Given the description of an element on the screen output the (x, y) to click on. 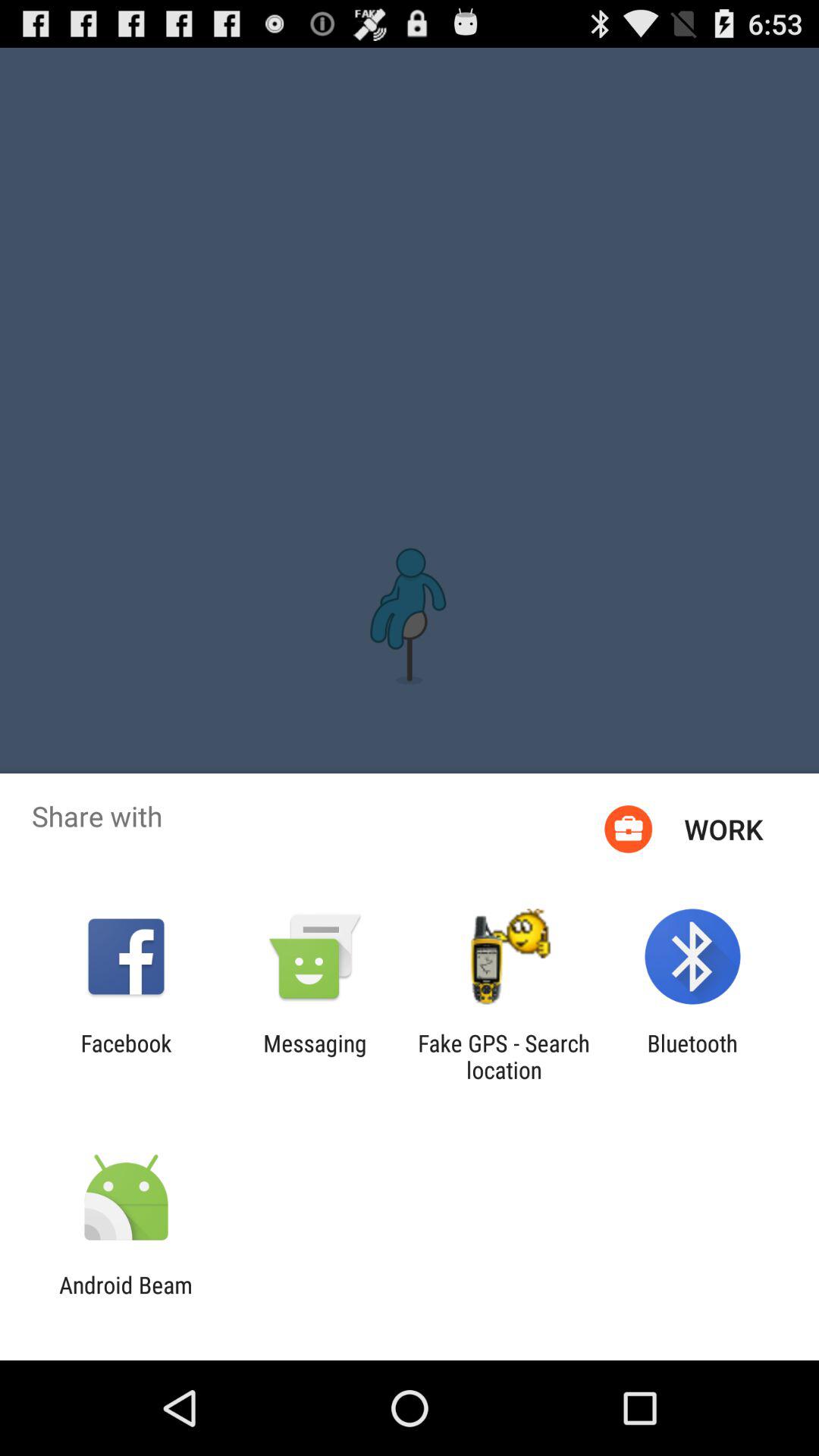
turn on item at the bottom right corner (692, 1056)
